Given the description of an element on the screen output the (x, y) to click on. 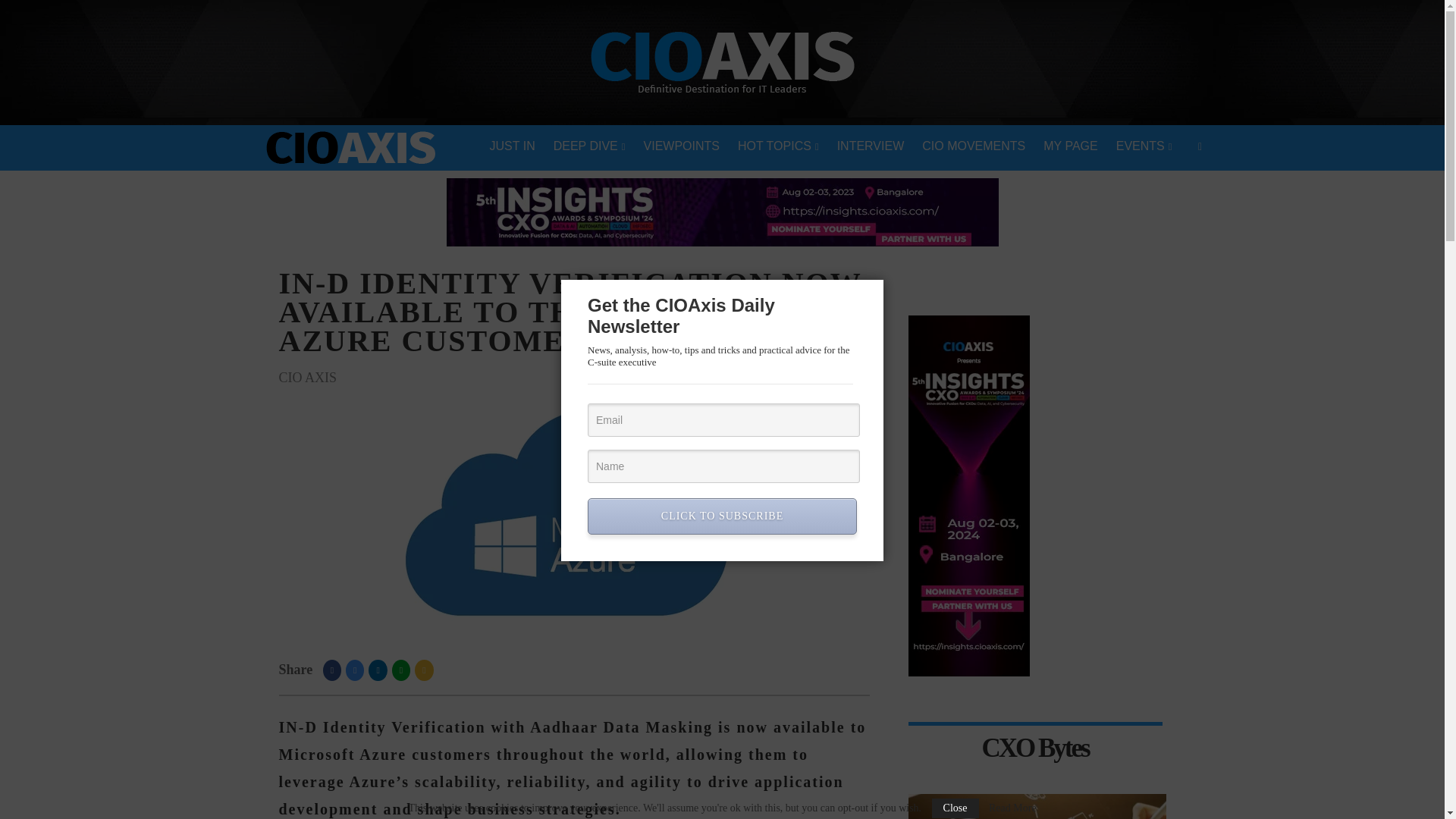
HOT TOPICS (778, 146)
Name (724, 466)
MY PAGE (1069, 146)
CIO MOVEMENTS (972, 146)
EVENTS (1143, 146)
microsoft-azure (573, 514)
JUST IN (512, 146)
INTERVIEW (871, 146)
Email (724, 419)
DEEP DIVE (589, 146)
CIO AXIS (308, 377)
VIEWPOINTS (681, 146)
